Given the description of an element on the screen output the (x, y) to click on. 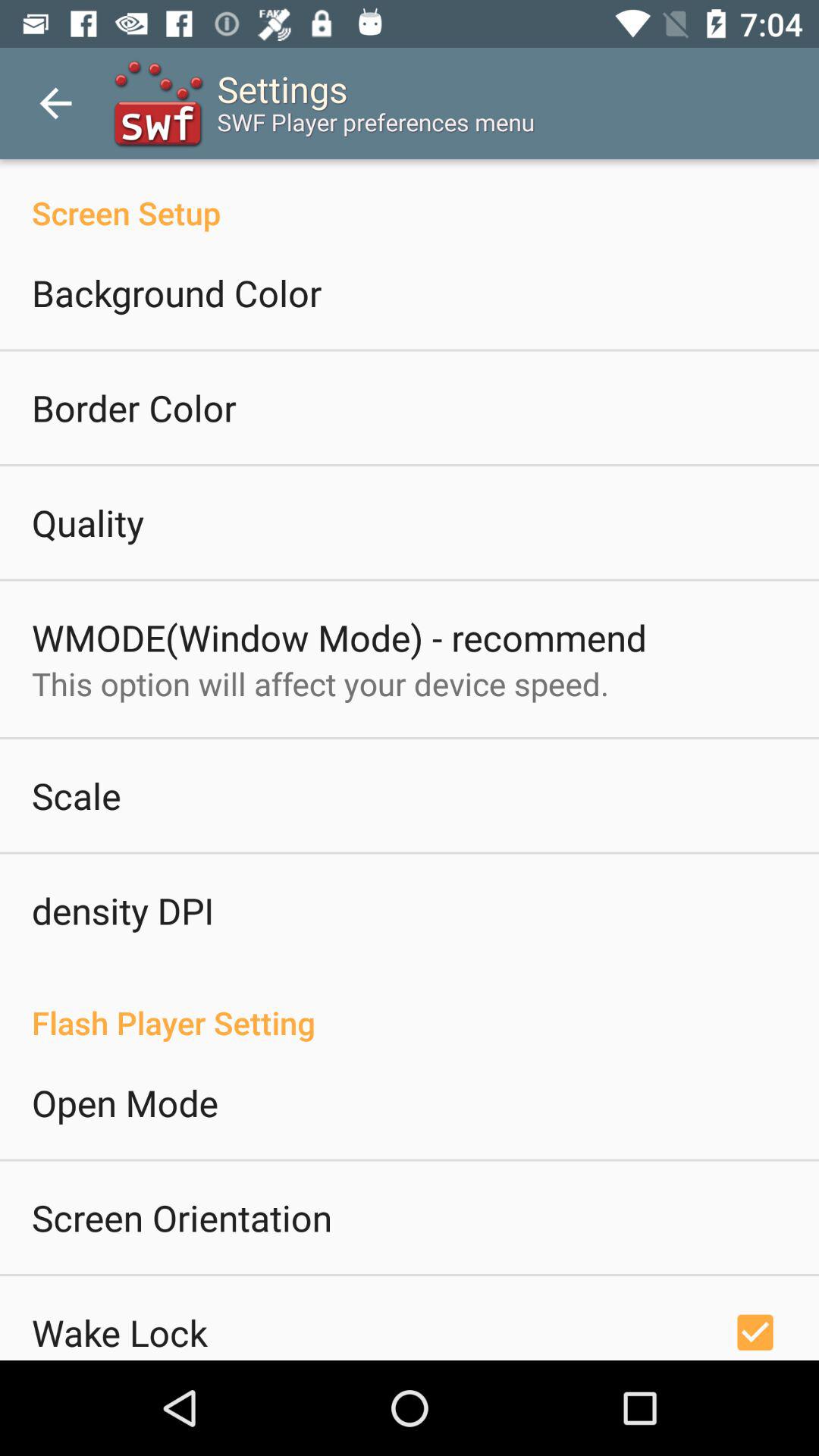
choose item above wmode window mode item (87, 522)
